Given the description of an element on the screen output the (x, y) to click on. 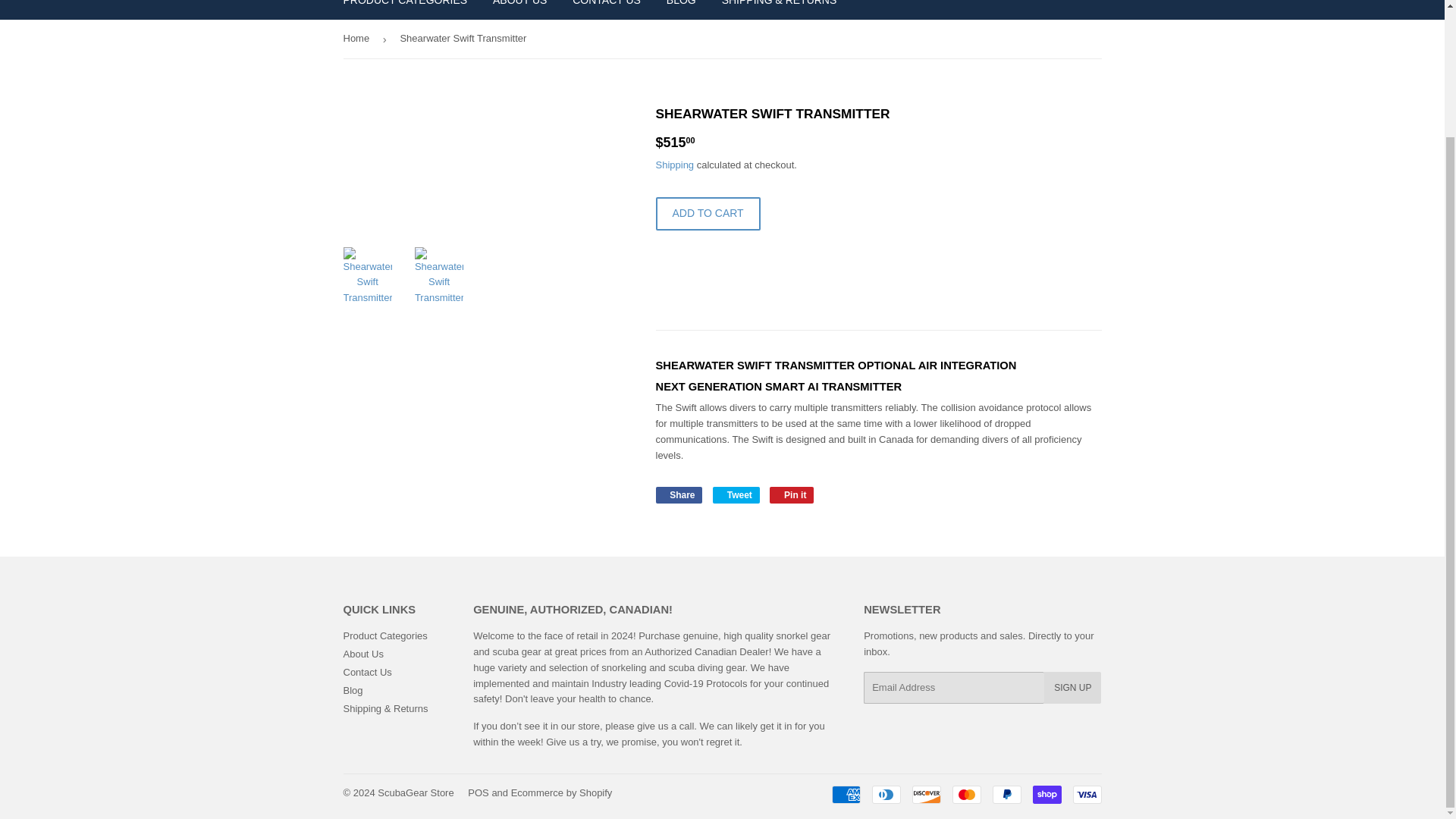
Ecommerce by Shopify (561, 792)
Product Categories (384, 635)
Share on Facebook (678, 494)
PayPal (1005, 794)
POS (477, 792)
Visa (1085, 794)
ADD TO CART (707, 213)
PRODUCT CATEGORIES (791, 494)
